Given the description of an element on the screen output the (x, y) to click on. 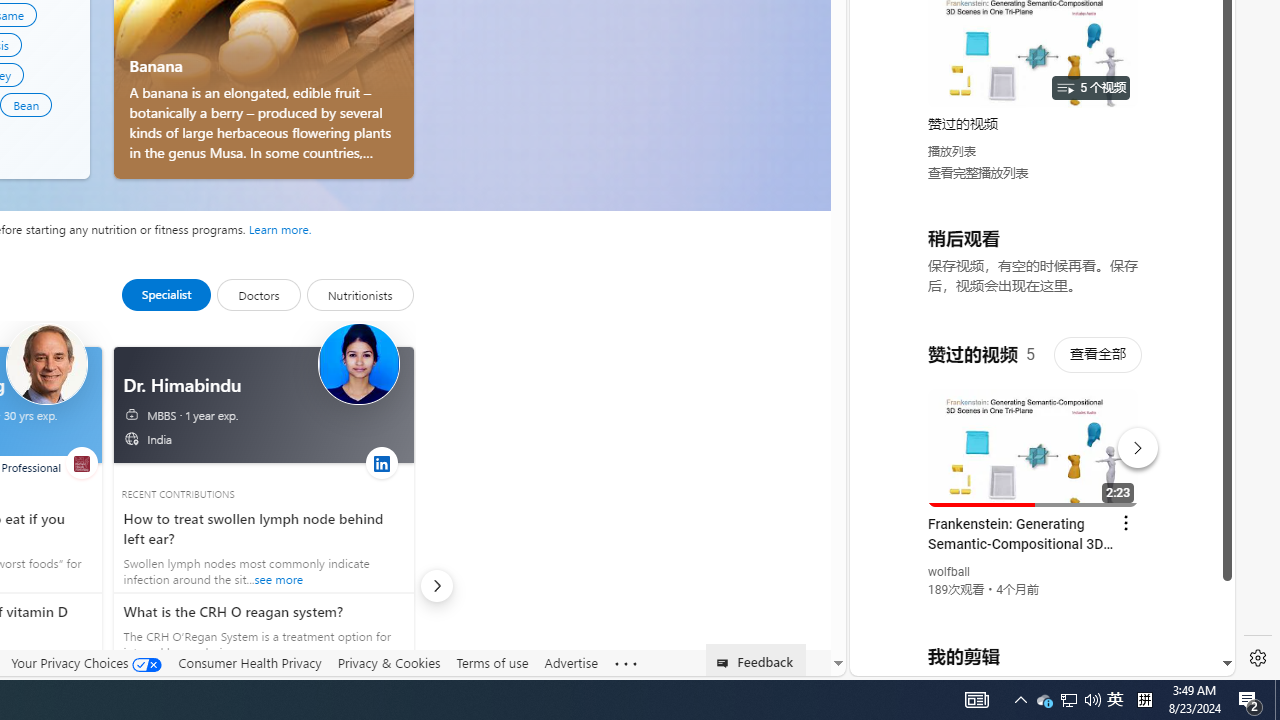
Terms of use (491, 662)
Health professional icon - Dr. Himabindu  (358, 363)
linkedin (381, 462)
you (1034, 609)
Click to scroll right (1196, 83)
Harvard logo (80, 463)
LinkedIn (381, 463)
Actions for this site (1131, 443)
website (80, 462)
wolfball (949, 572)
